Given the description of an element on the screen output the (x, y) to click on. 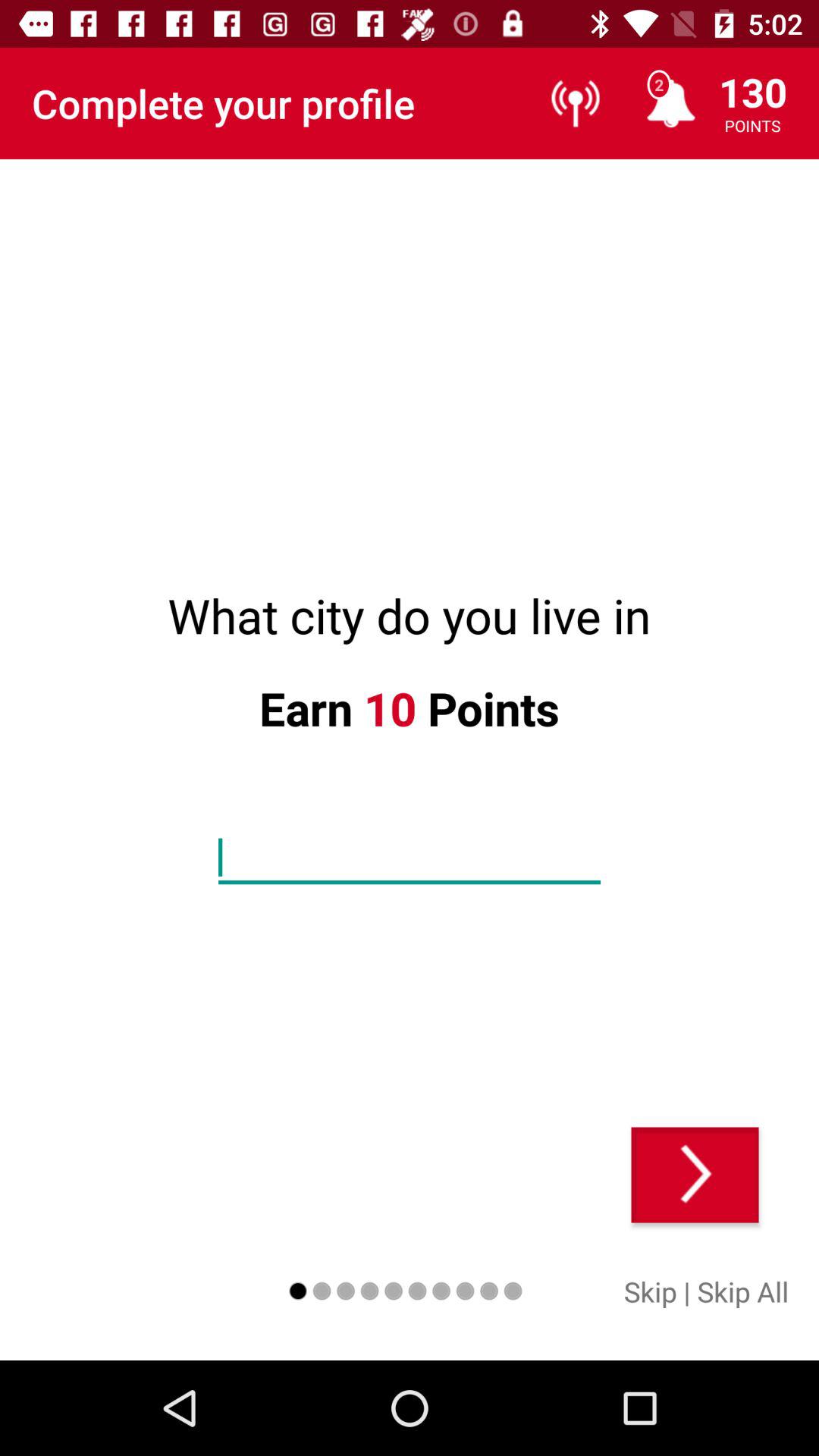
city field (409, 858)
